Given the description of an element on the screen output the (x, y) to click on. 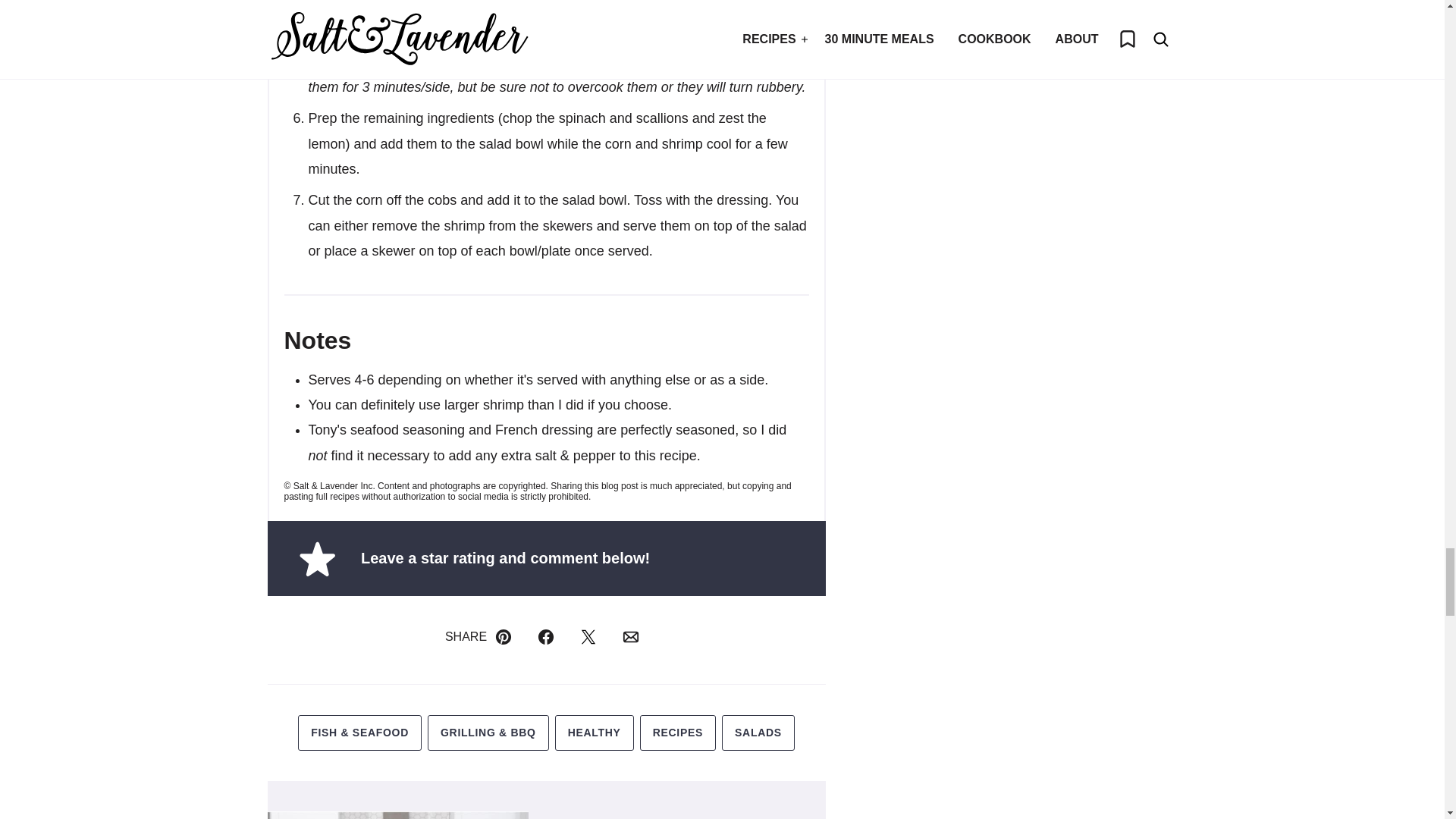
Share on Facebook (545, 636)
Share via Email (630, 636)
Share on Pinterest (502, 636)
Share on Twitter (588, 636)
